Given the description of an element on the screen output the (x, y) to click on. 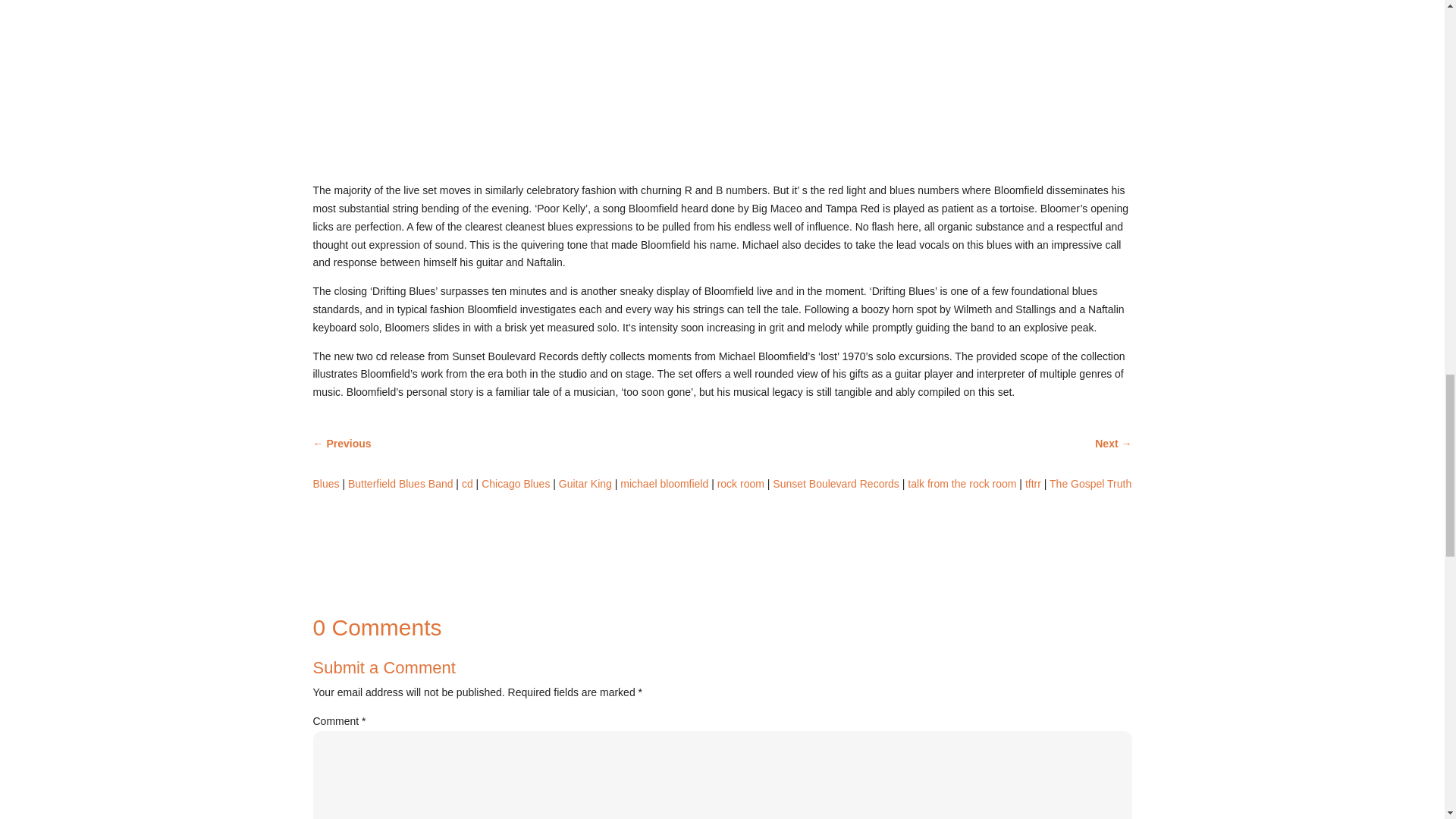
Sunset Boulevard Records (836, 483)
rock room (740, 483)
talk from the rock room (961, 483)
Chicago Blues (515, 483)
Butterfield Blues Band (399, 483)
tftrr (1033, 483)
The Gospel Truth (1090, 483)
Guitar King (585, 483)
michael bloomfield (663, 483)
cd (467, 483)
